Given the description of an element on the screen output the (x, y) to click on. 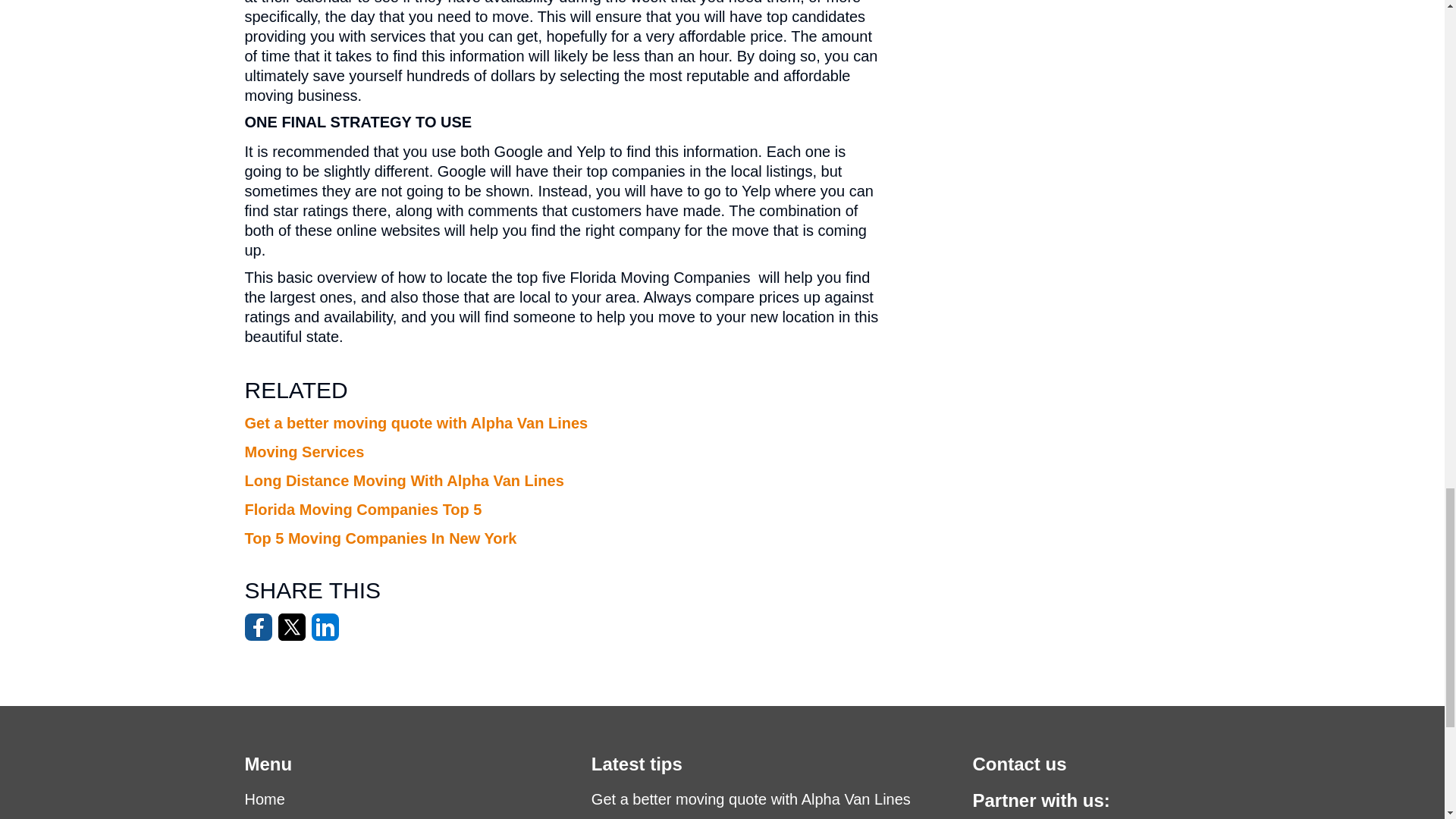
Get a better moving quote with Alpha Van Lines (416, 423)
Get a better moving quote with Alpha Van Lines (751, 798)
Long Distance Moving With Alpha Van Lines (403, 480)
Florida Moving Companies Top 5 (362, 509)
Top 5 Moving Companies In New York (380, 537)
Moving Services (304, 451)
Home (263, 798)
